Given the description of an element on the screen output the (x, y) to click on. 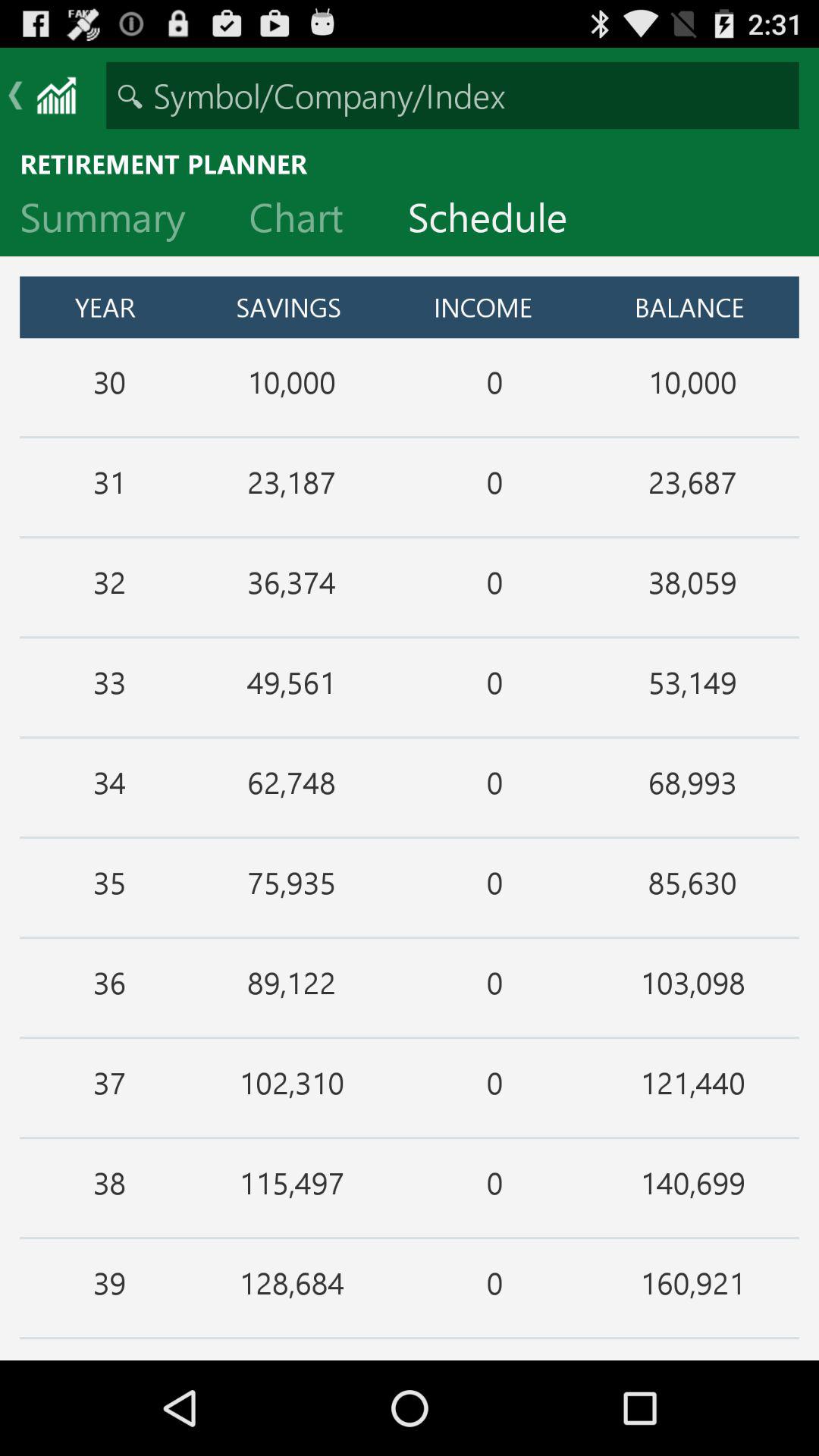
select item to the left of chart item (114, 220)
